Given the description of an element on the screen output the (x, y) to click on. 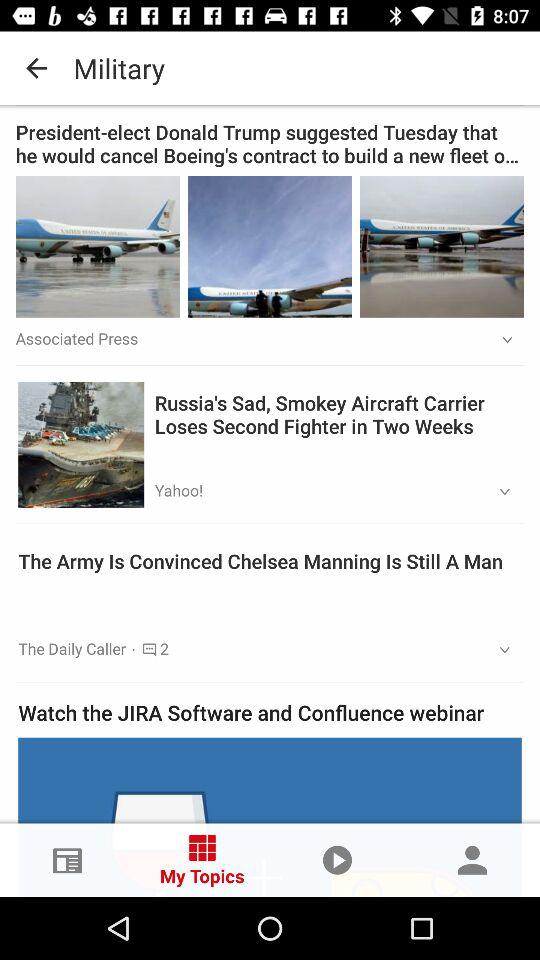
open icon to the right of the 2 app (498, 650)
